Given the description of an element on the screen output the (x, y) to click on. 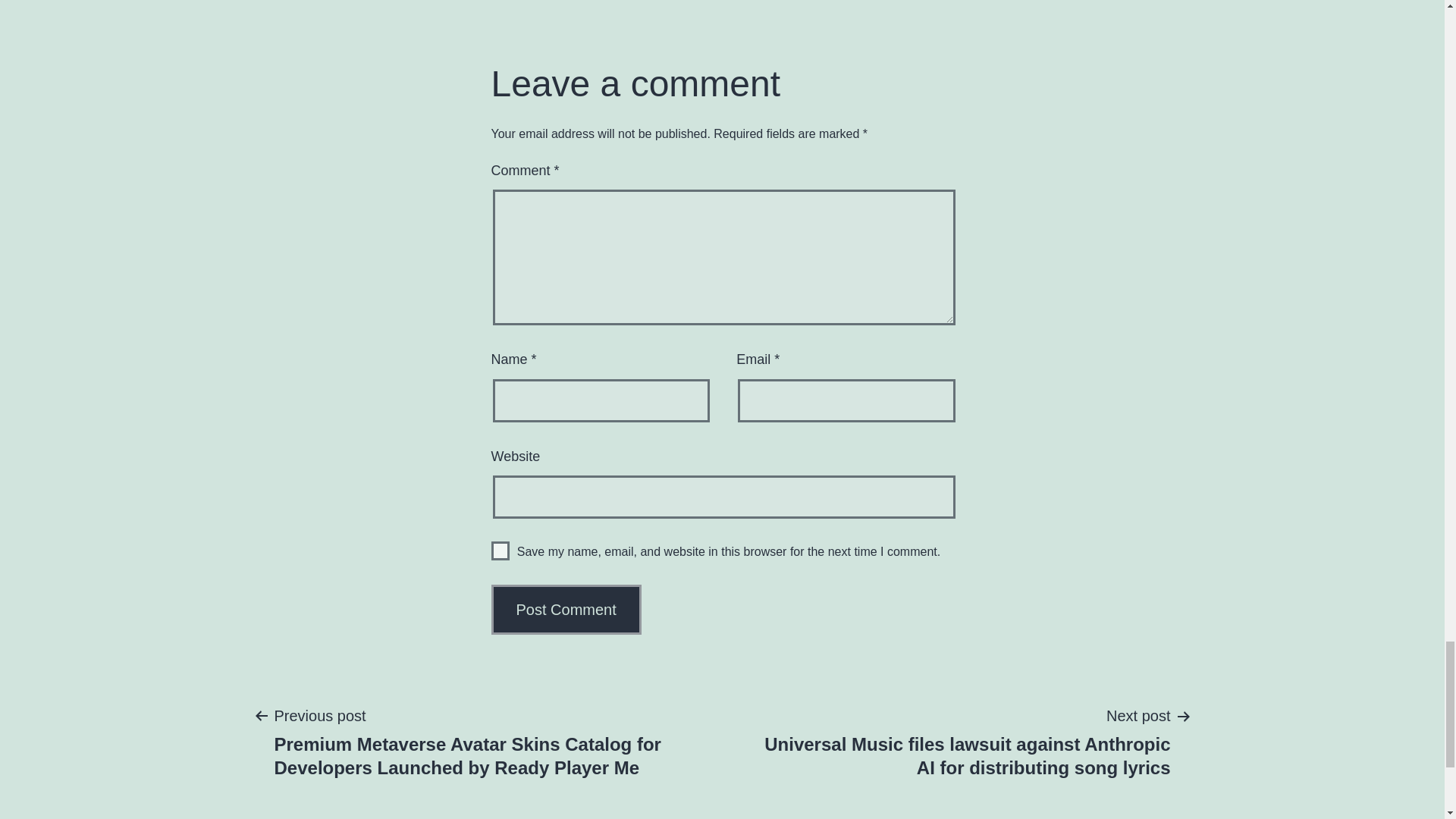
Post Comment (567, 609)
Post Comment (567, 609)
yes (500, 550)
